Given the description of an element on the screen output the (x, y) to click on. 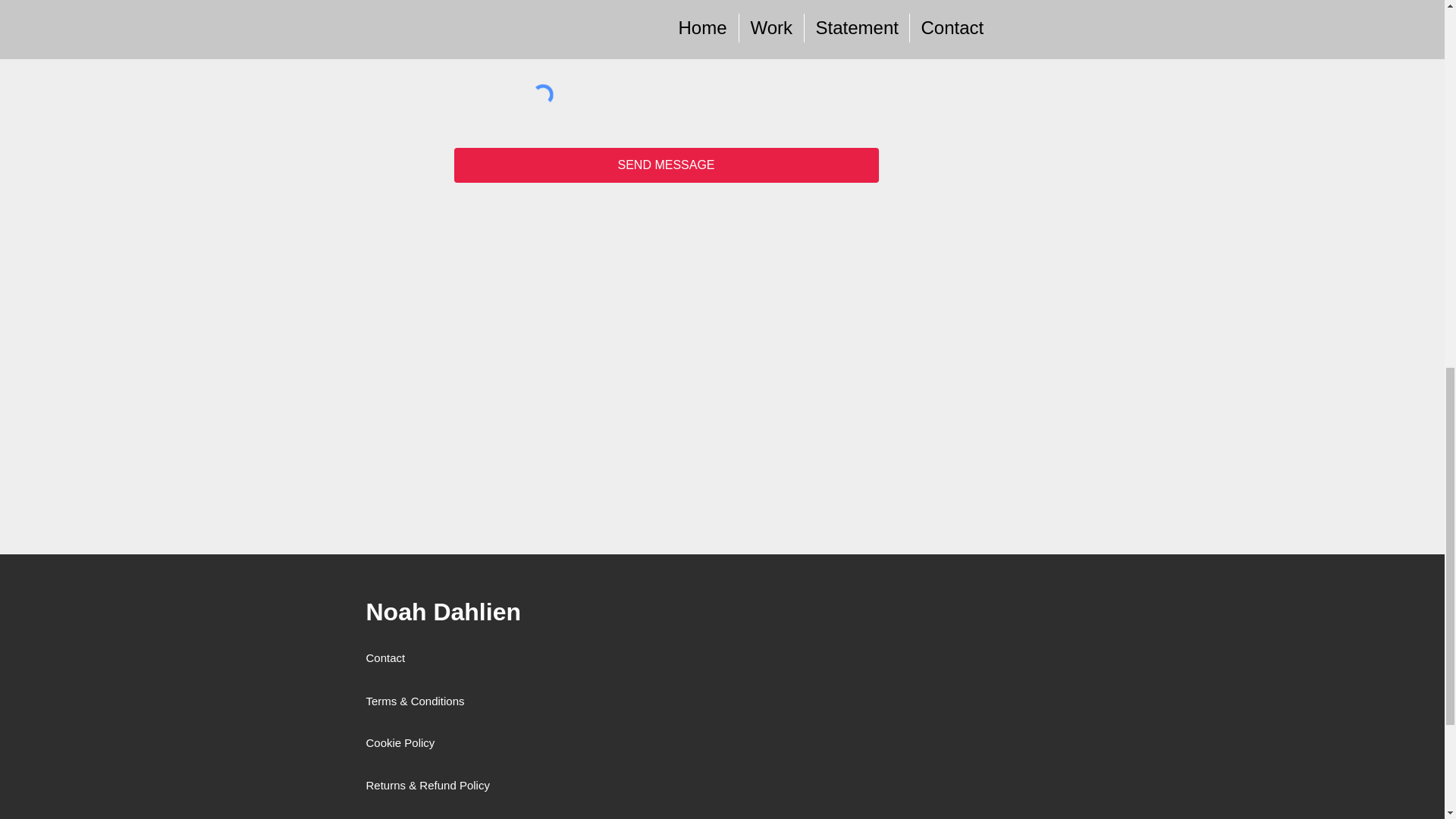
Noah Dahlien (442, 611)
Cookie Policy (399, 742)
Contact  (386, 657)
SEND MESSAGE (664, 165)
